Given the description of an element on the screen output the (x, y) to click on. 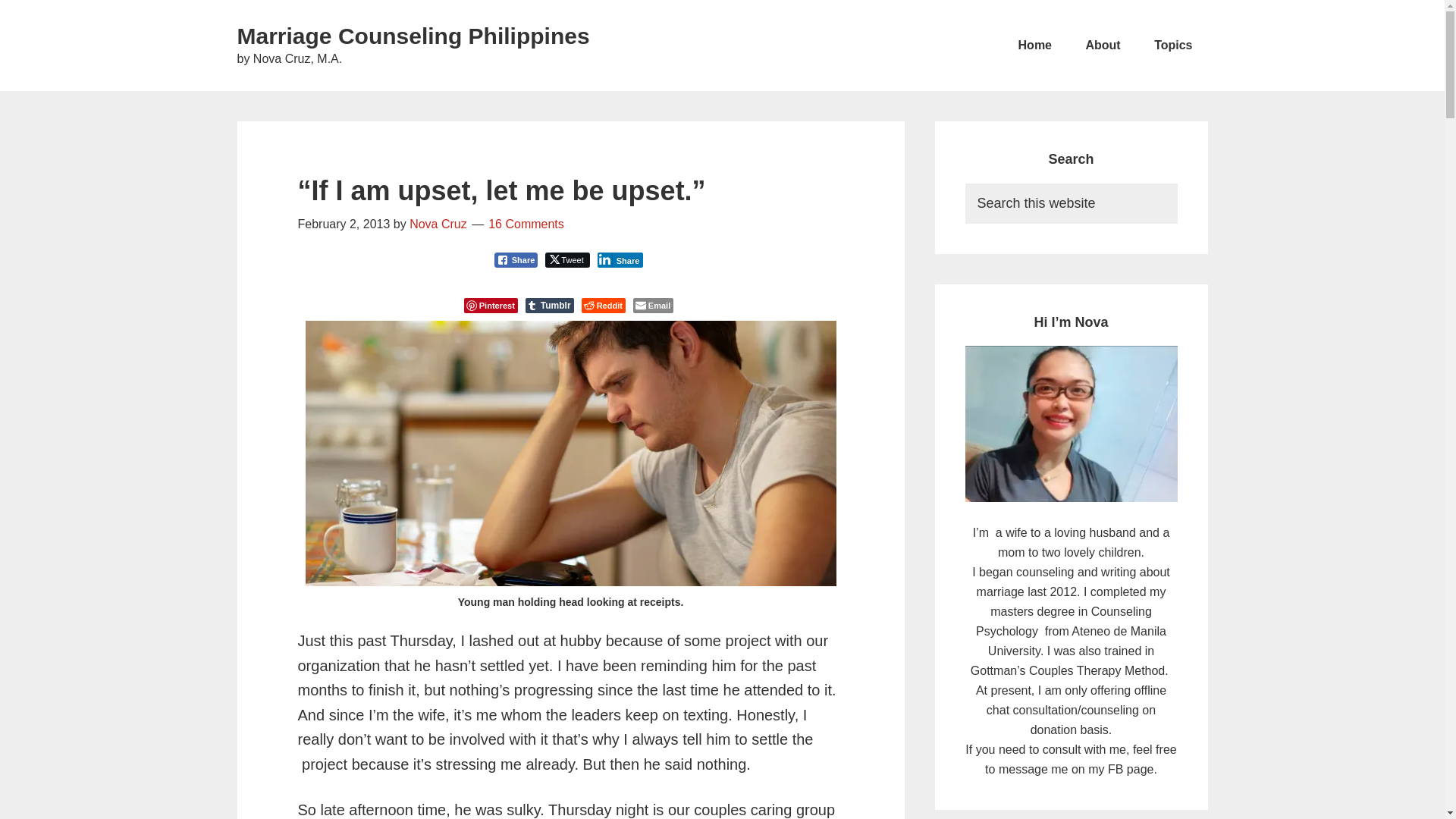
Email (652, 305)
Share (516, 259)
About (1102, 45)
Tweet (566, 259)
Home (1035, 45)
Reddit (603, 305)
Nova Cruz (438, 223)
16 Comments (525, 223)
